Given the description of an element on the screen output the (x, y) to click on. 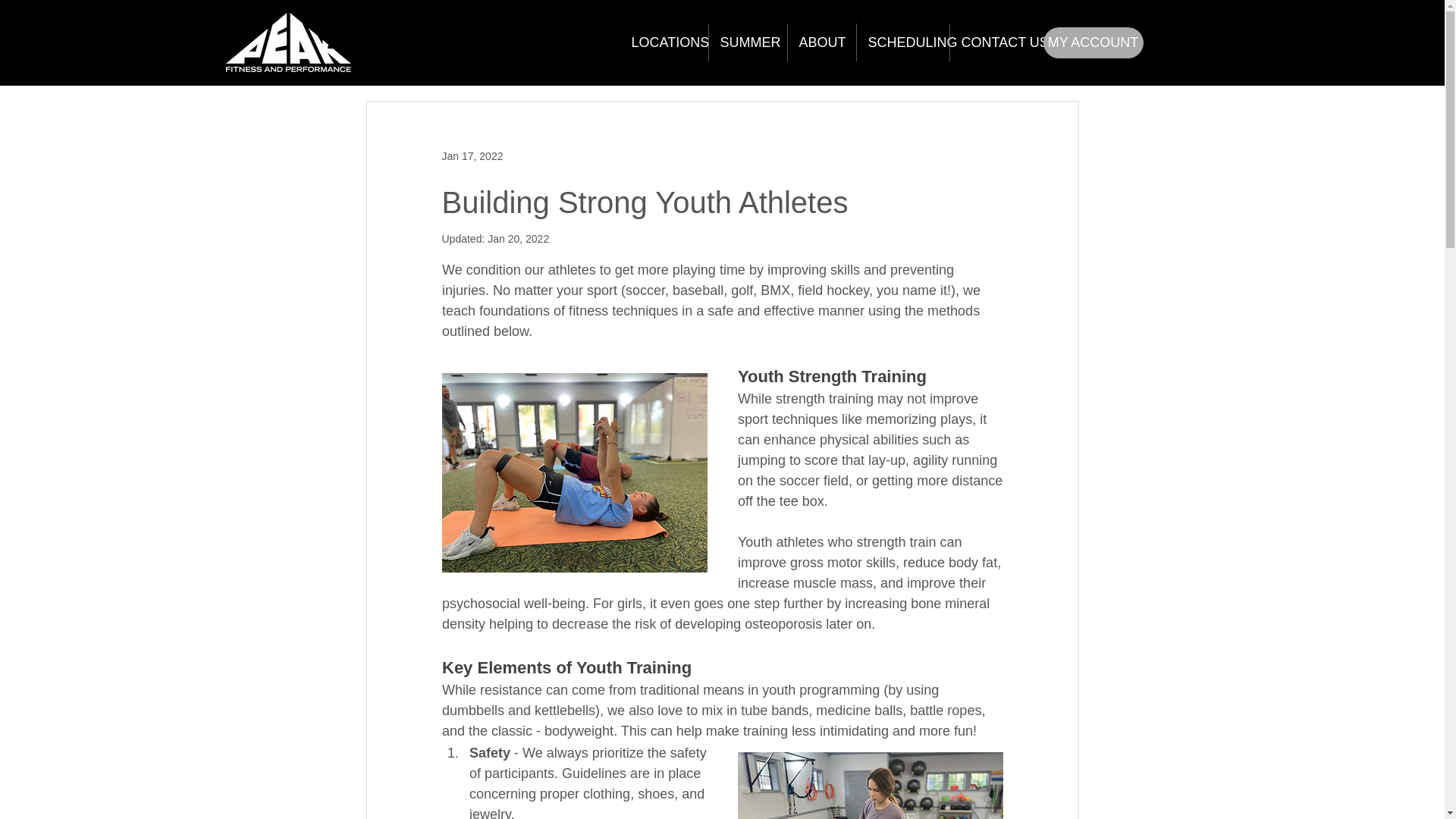
SCHEDULING (903, 42)
Jan 17, 2022 (471, 155)
Jan 20, 2022 (517, 238)
CONTACT US (995, 42)
LOCATIONS (663, 42)
ABOUT (821, 42)
MY ACCOUNT (1092, 42)
SUMMER (746, 42)
